Given the description of an element on the screen output the (x, y) to click on. 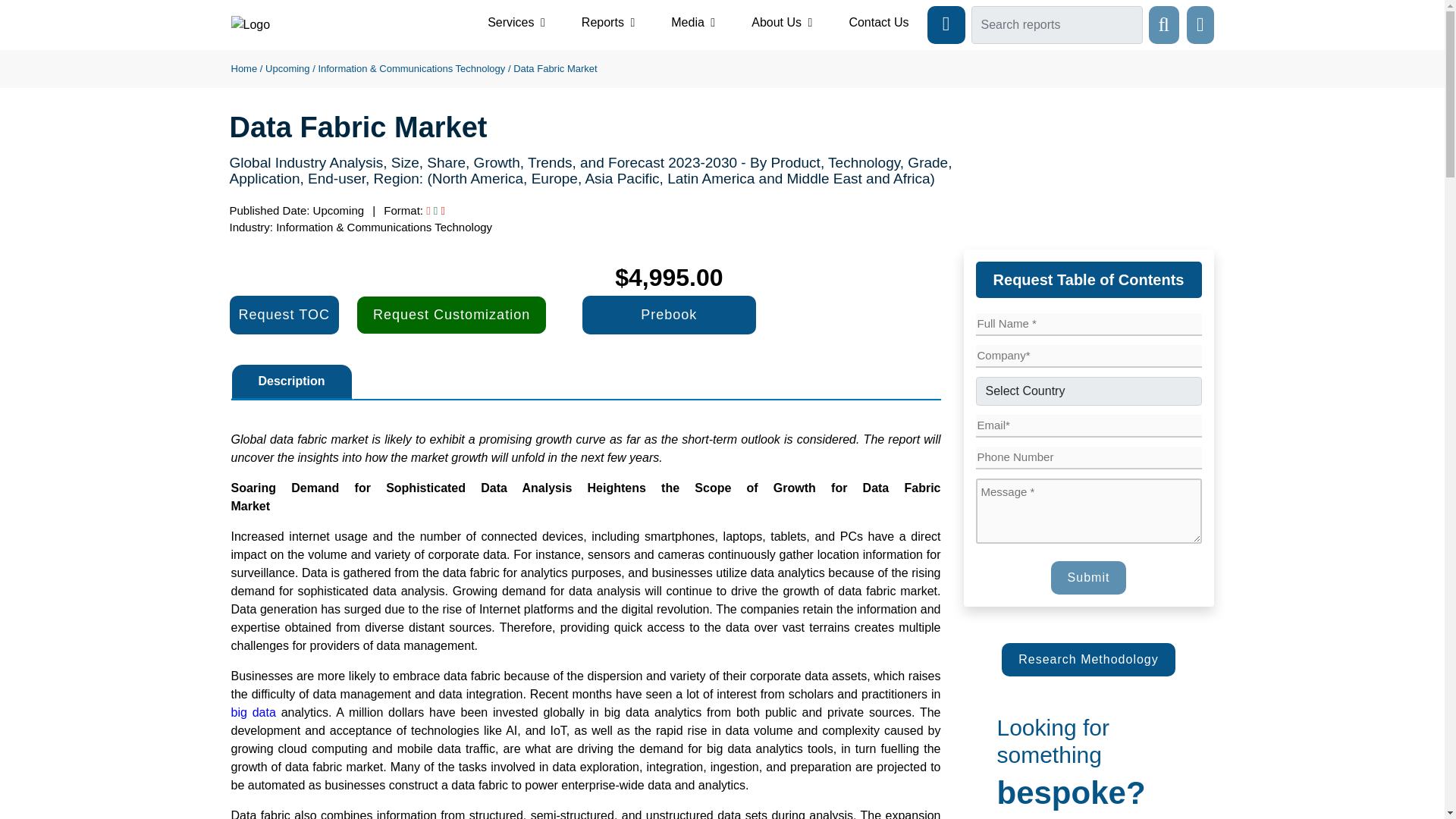
Description (291, 381)
Request TOC (282, 314)
Media (692, 22)
Prebook (668, 314)
Contact Us (877, 22)
Services (515, 22)
Data Fabric Market (554, 68)
Reports (607, 22)
About Us (781, 22)
Home (243, 68)
